Given the description of an element on the screen output the (x, y) to click on. 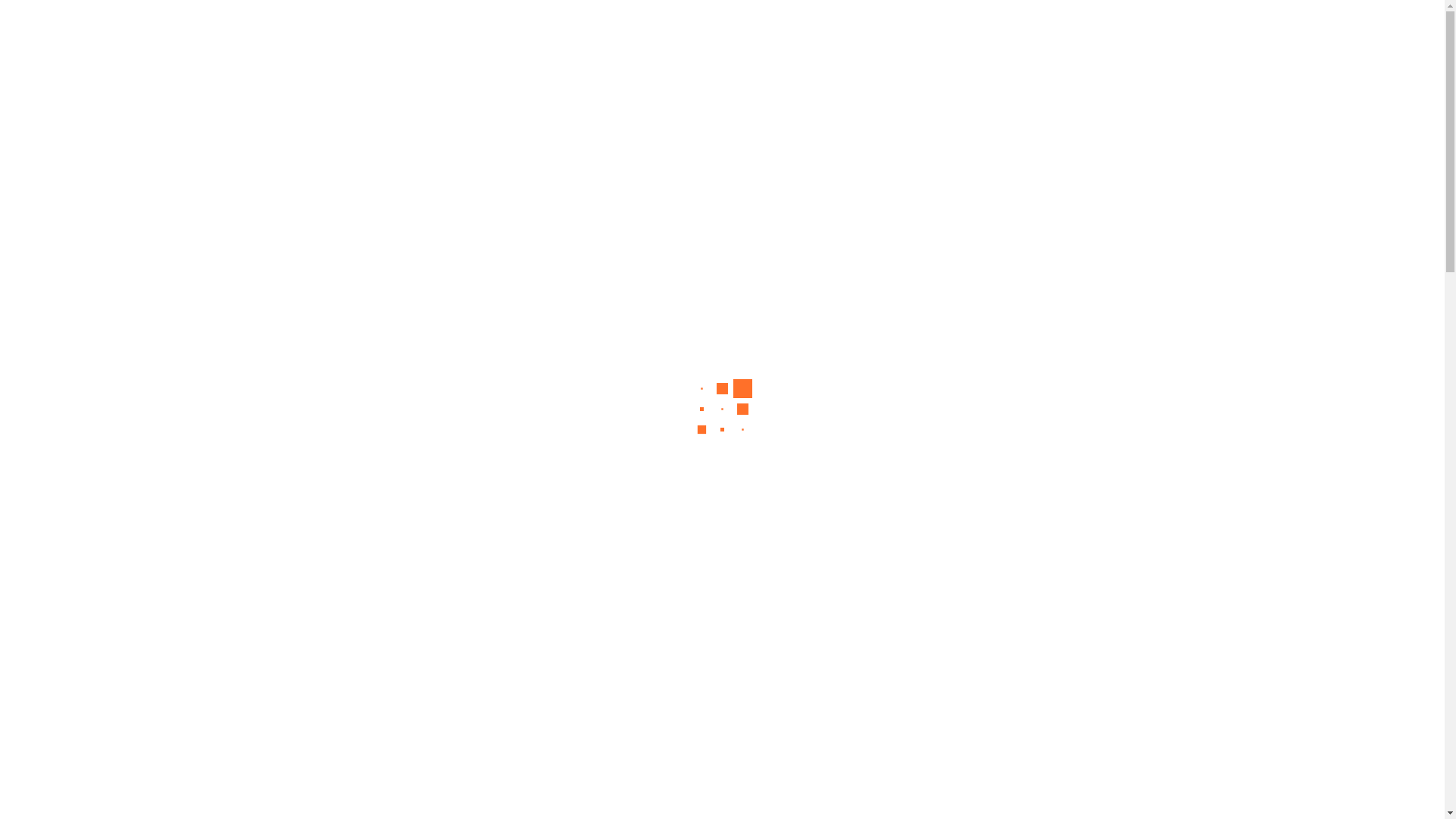
CONTACT US Element type: text (721, 268)
CONTACT US Element type: text (1345, 37)
Home Element type: text (520, 37)
Job Portal Element type: text (912, 37)
HR Solutions Element type: text (810, 37)
Job Seekers Element type: text (608, 37)
Employers Element type: text (707, 37)
